Given the description of an element on the screen output the (x, y) to click on. 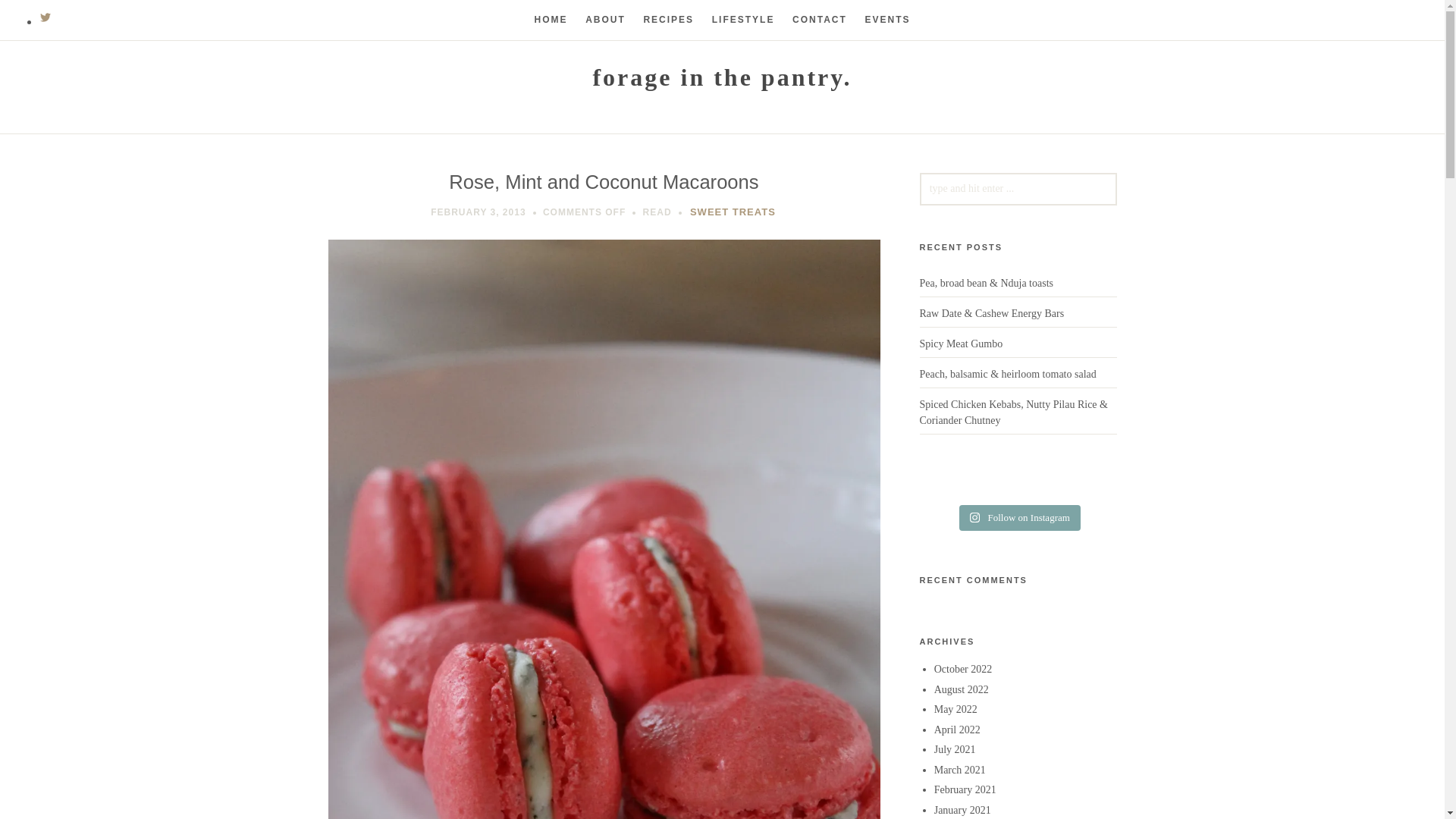
April 2022 (956, 729)
August 2022 (961, 689)
CONTACT (819, 20)
January 2021 (962, 809)
Search (39, 16)
SWEET TREATS (733, 211)
March 2021 (959, 769)
July 2021 (954, 749)
May 2022 (955, 708)
Spicy Meat Gumbo (960, 343)
October 2022 (963, 668)
February 2021 (964, 789)
forage in the pantry. (721, 76)
Follow on Instagram (1019, 517)
RECIPES (668, 20)
